Given the description of an element on the screen output the (x, y) to click on. 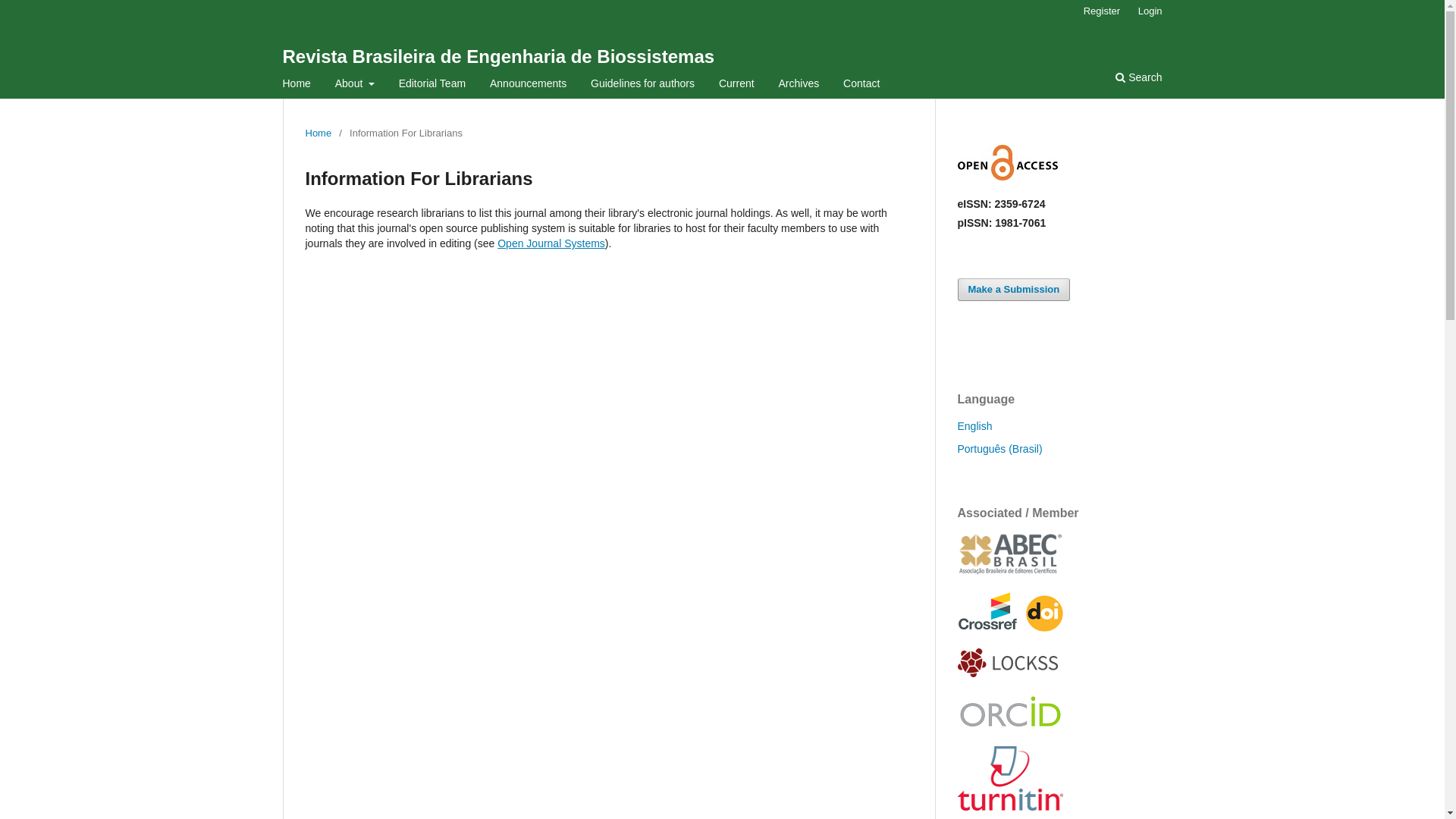
Editorial Team Element type: text (431, 83)
Search Element type: text (1123, 83)
Announcements Element type: text (527, 83)
About Element type: text (354, 83)
Register Element type: text (1101, 11)
Archives Element type: text (798, 83)
Home Element type: text (317, 133)
Home Element type: text (296, 83)
Contact Element type: text (861, 83)
Current Element type: text (736, 83)
English Element type: text (974, 426)
Login Element type: text (1146, 11)
Revista Brasileira de Engenharia de Biossistemas Element type: text (498, 56)
Open Journal Systems Element type: text (551, 243)
Guidelines for authors Element type: text (642, 83)
Make a Submission Element type: text (1013, 289)
